Given the description of an element on the screen output the (x, y) to click on. 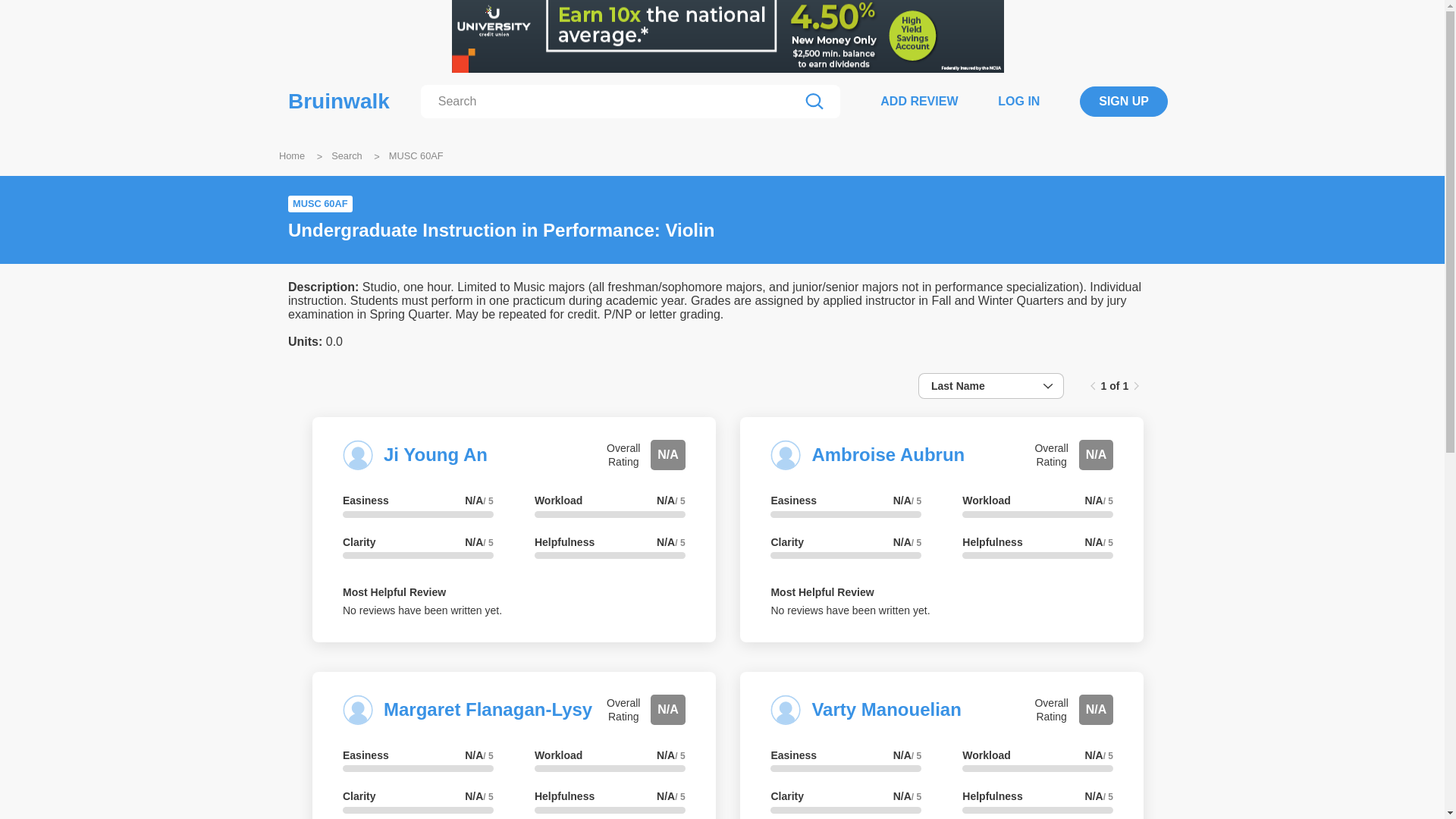
No reviews have been written yet. (422, 610)
Most Helpful Review (821, 592)
Bruinwalk (339, 101)
Home (291, 155)
Most Helpful Review (393, 592)
LOG IN (1018, 101)
SIGN UP (1123, 101)
Search (346, 155)
Margaret Flanagan-Lysy (488, 709)
No reviews have been written yet. (850, 610)
Varty Manouelian (885, 709)
ADD REVIEW (919, 101)
Ji Young An (435, 454)
Ambroise Aubrun (886, 454)
